Given the description of an element on the screen output the (x, y) to click on. 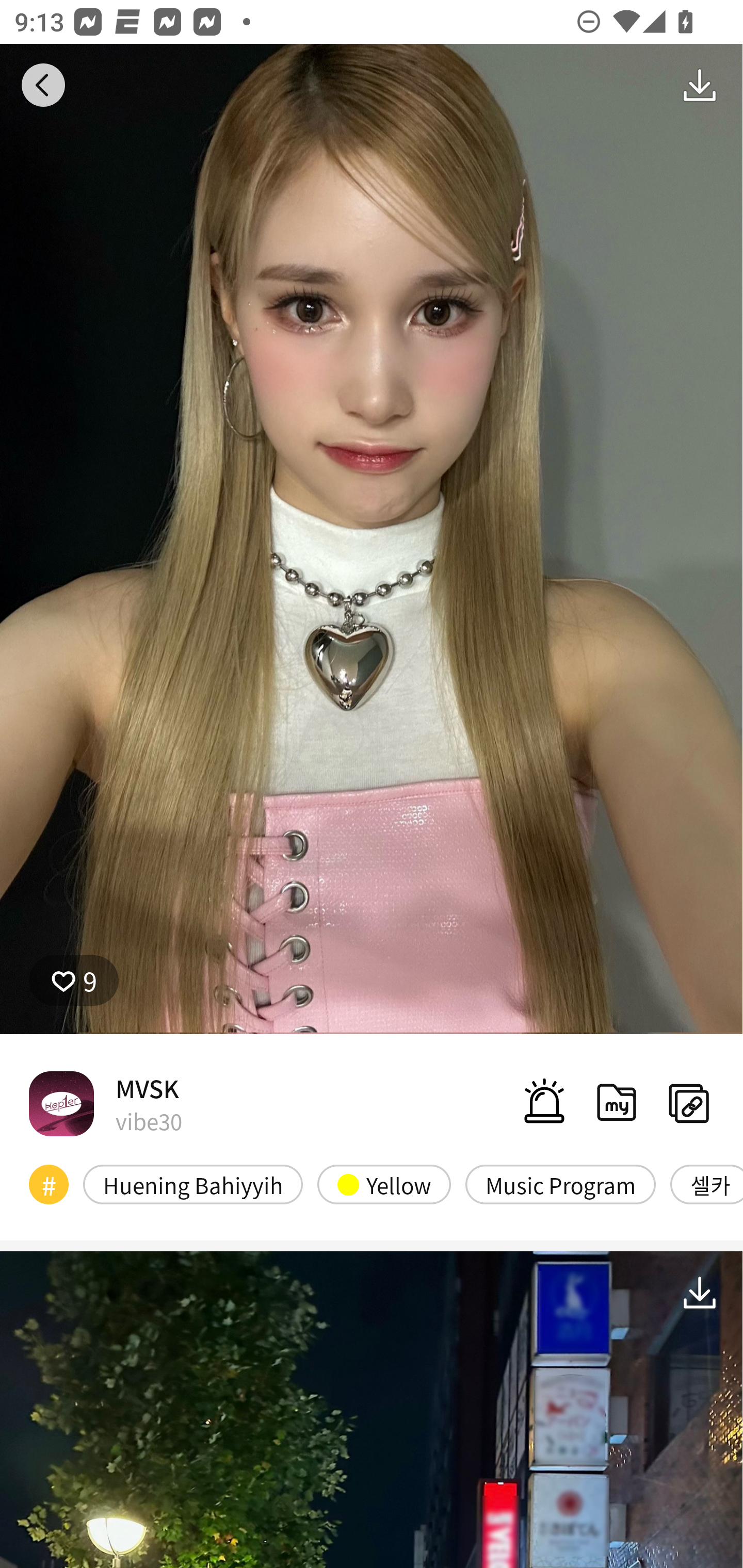
9 (73, 980)
MVSK vibe30 (105, 1102)
Huening Bahiyyih (193, 1184)
Yellow (384, 1184)
Music Program (560, 1184)
셀카 (706, 1184)
